Given the description of an element on the screen output the (x, y) to click on. 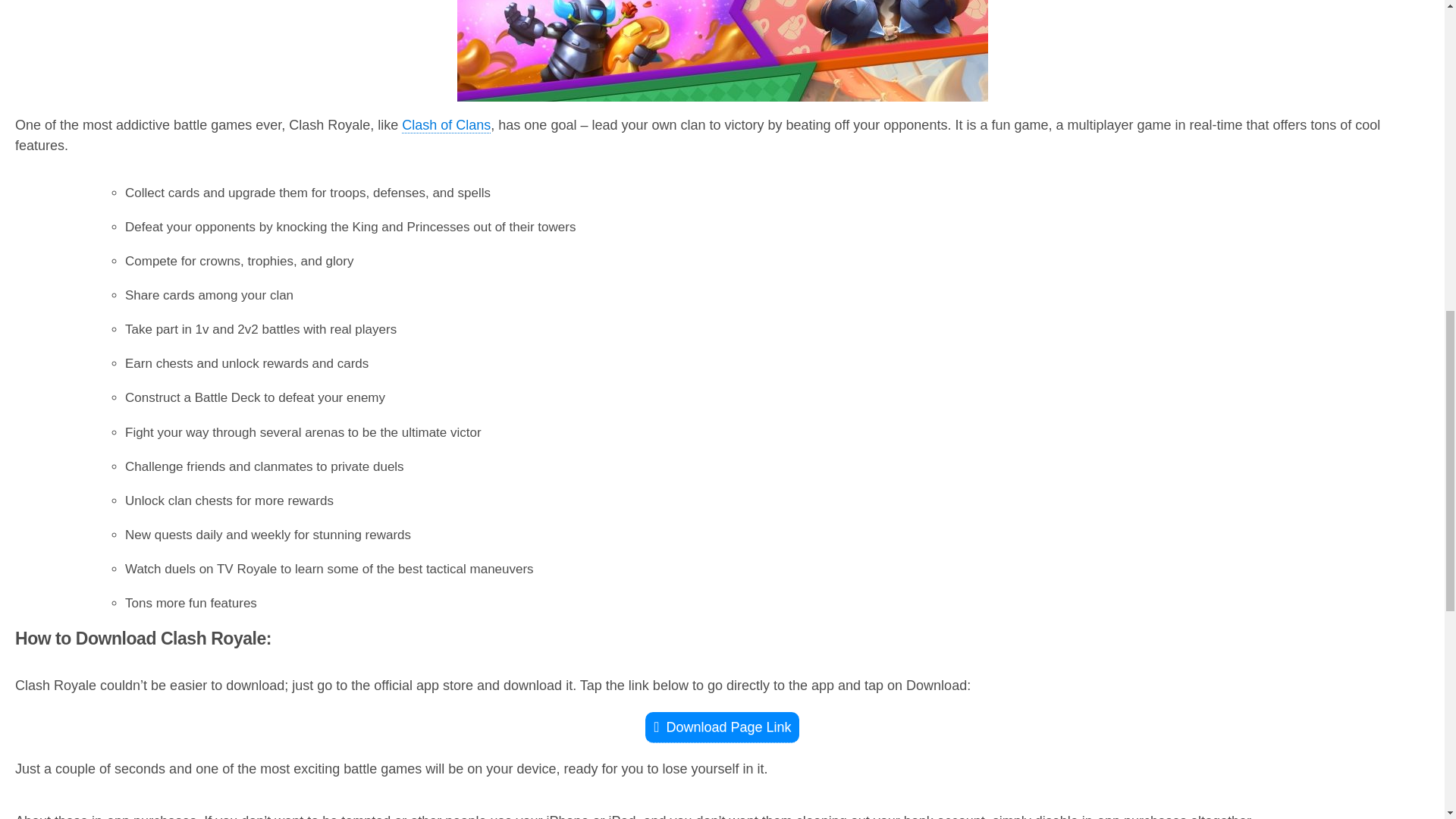
Clash of Clans (445, 125)
Download Page Link (721, 726)
